Given the description of an element on the screen output the (x, y) to click on. 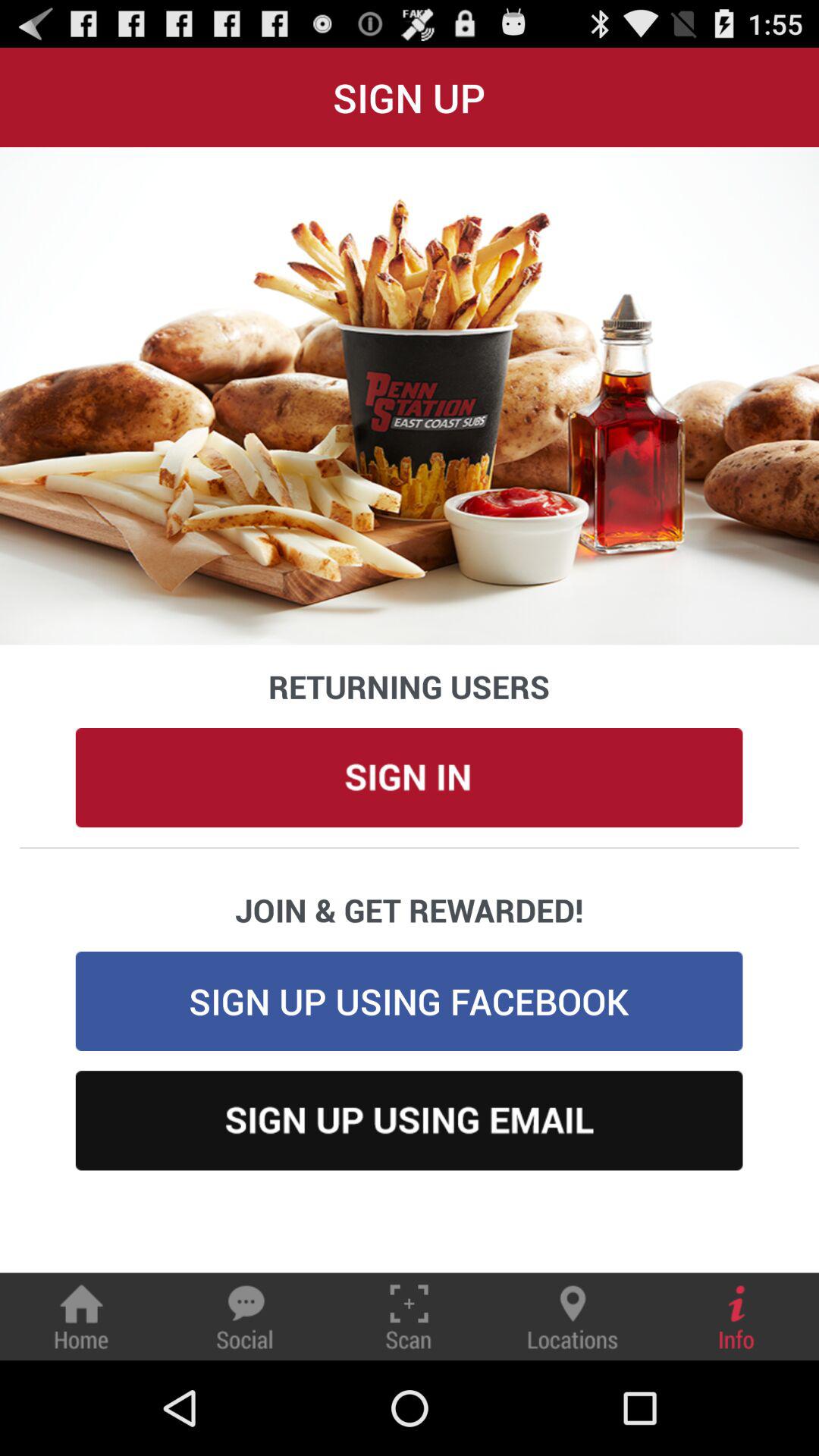
click on the location button at the bottom of the page (572, 1315)
click on the social icon at the bottom of the web page (245, 1315)
click on the scan button at the bottom center of the page (409, 1315)
click on info button which is at bottom right corner of the page (737, 1315)
click on info (737, 1315)
click on sign up using email (409, 1120)
click on sign up using facebook (409, 1001)
click on social right to home (245, 1315)
click on the button sign up using facebook (409, 1001)
click on the scan button along with image (409, 1315)
